Given the description of an element on the screen output the (x, y) to click on. 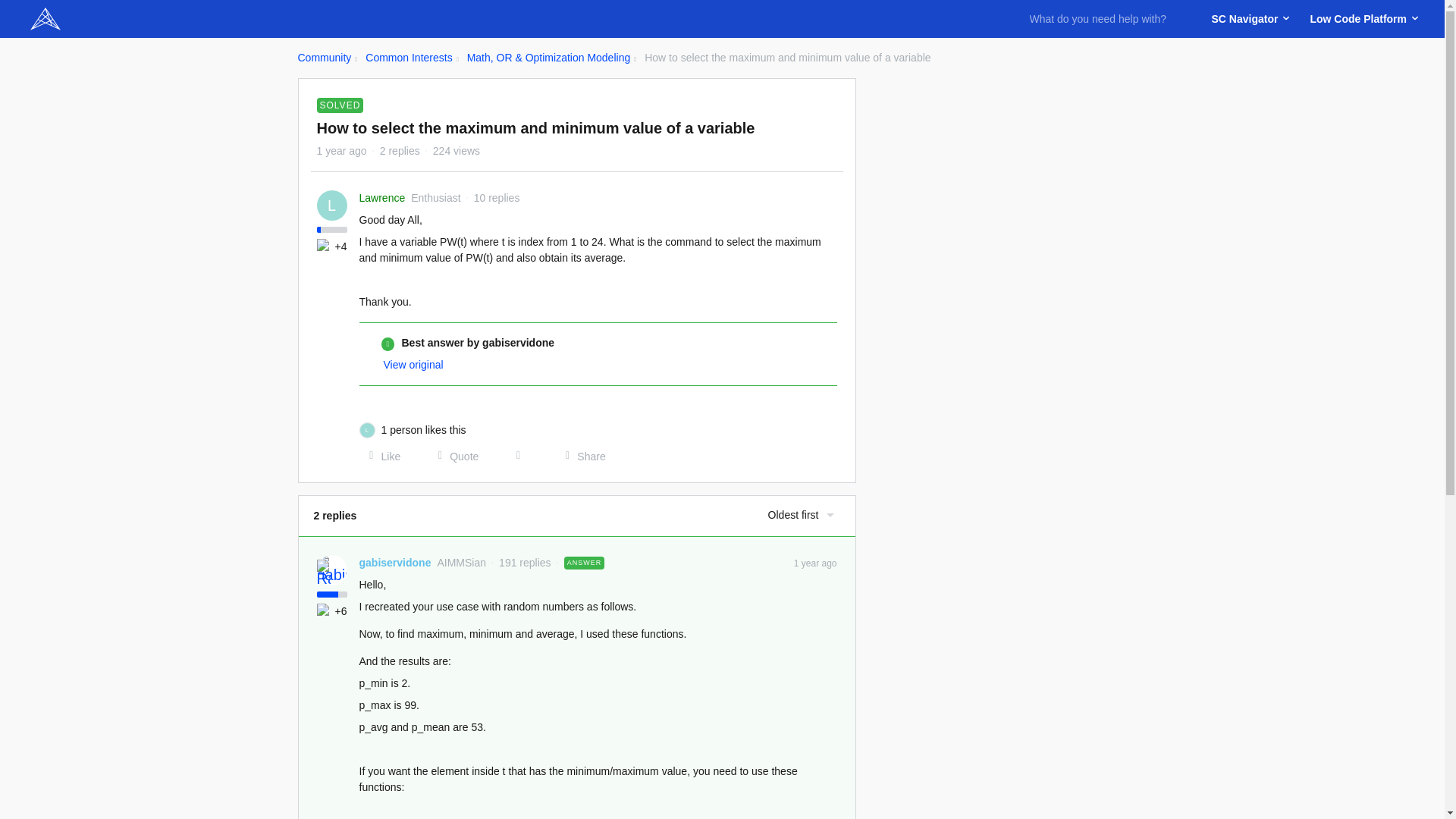
gabiservidone (394, 562)
L (332, 205)
View original (414, 364)
Lawrence (382, 198)
Easy Talker (324, 611)
gabiservidone (394, 562)
Common Interests (408, 57)
Quote (453, 456)
Administrator (323, 572)
Like (380, 456)
Community (323, 57)
Low Code Platform (1360, 18)
2 replies (400, 150)
Easy Talker (324, 246)
Lawrence (382, 198)
